Given the description of an element on the screen output the (x, y) to click on. 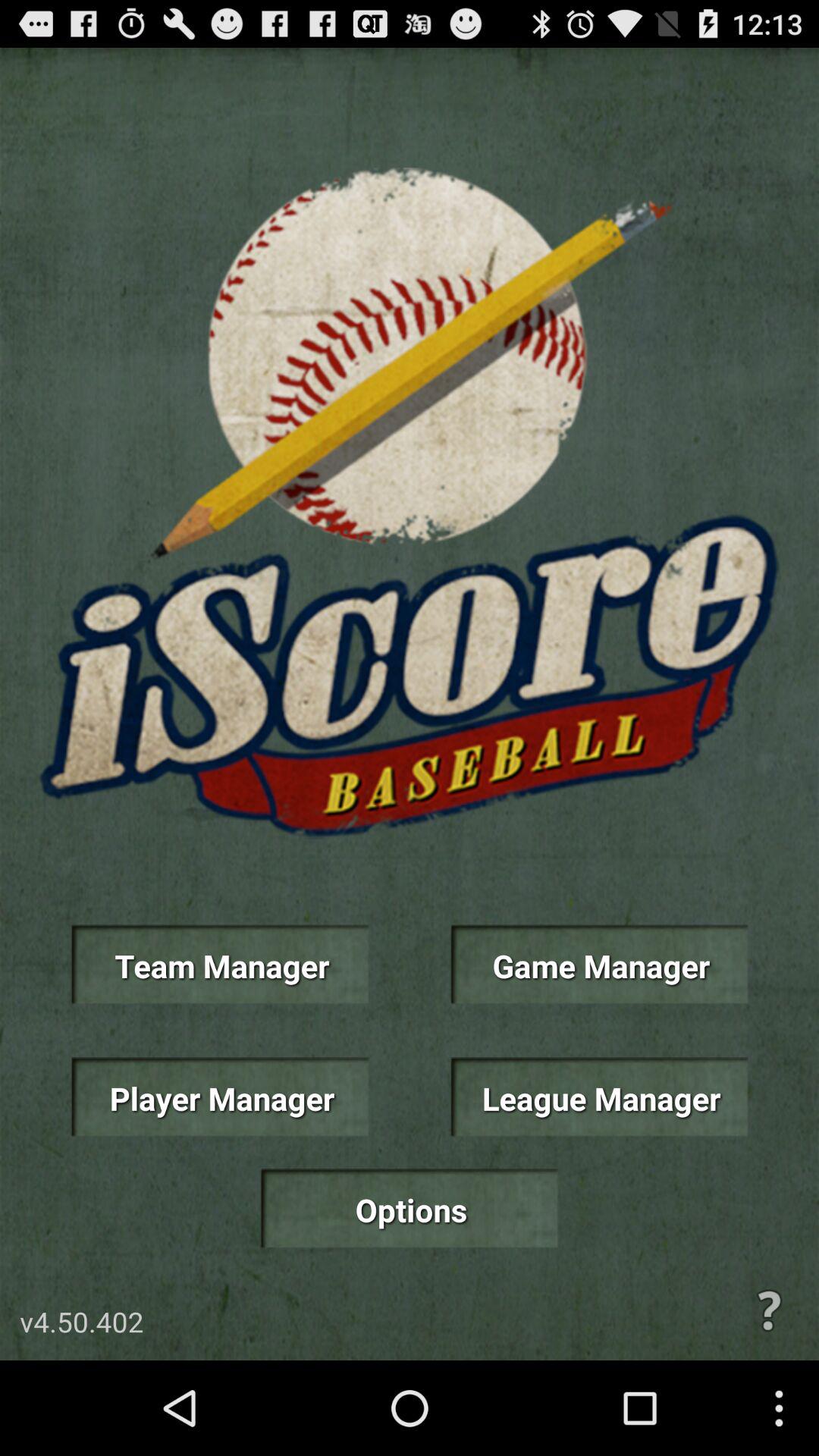
click the item below game manager item (598, 1096)
